Given the description of an element on the screen output the (x, y) to click on. 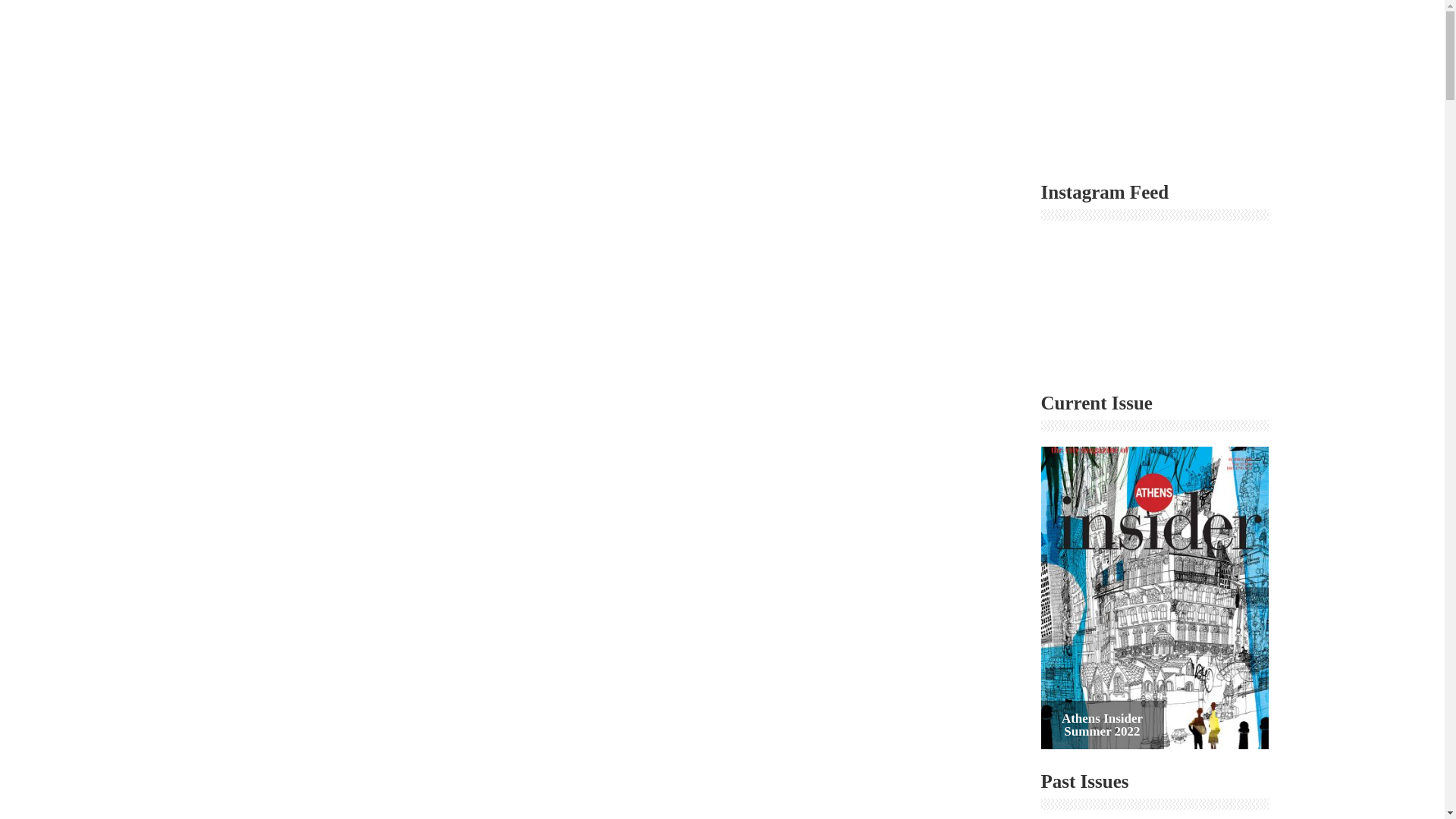
Search (1256, 114)
